Given the description of an element on the screen output the (x, y) to click on. 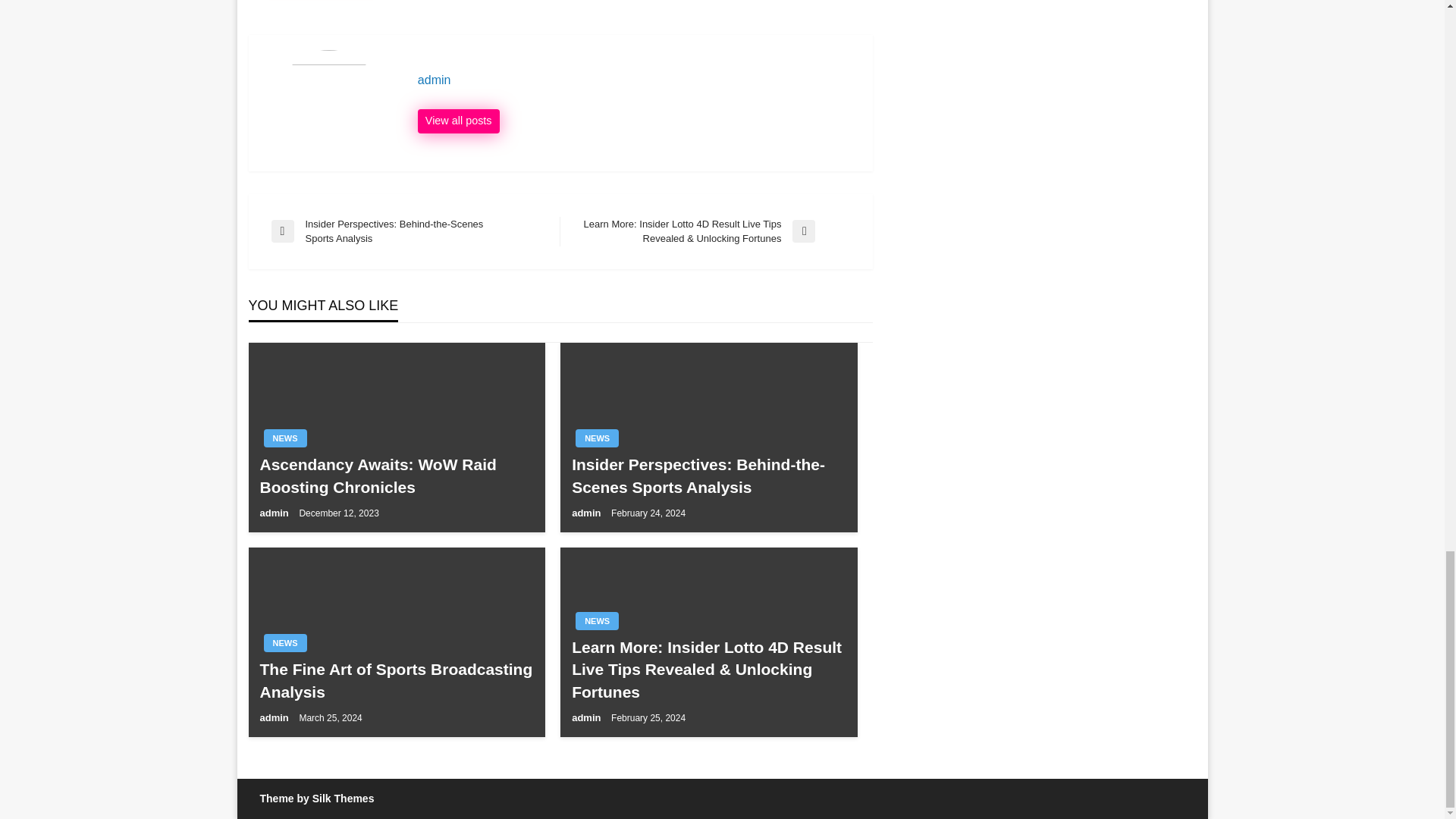
View all posts (458, 120)
admin (637, 79)
admin (637, 79)
admin (458, 120)
